Given the description of an element on the screen output the (x, y) to click on. 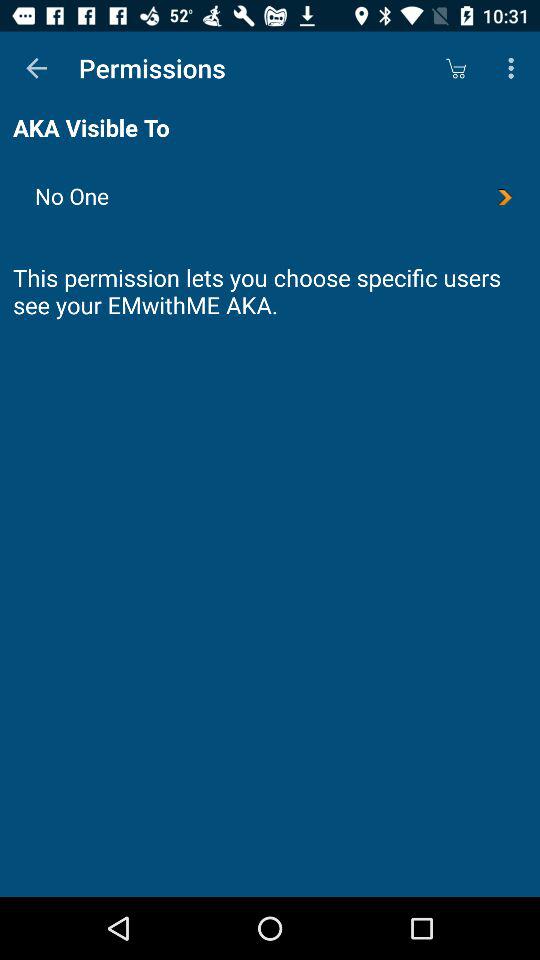
select icon next to the permissions app (455, 67)
